Given the description of an element on the screen output the (x, y) to click on. 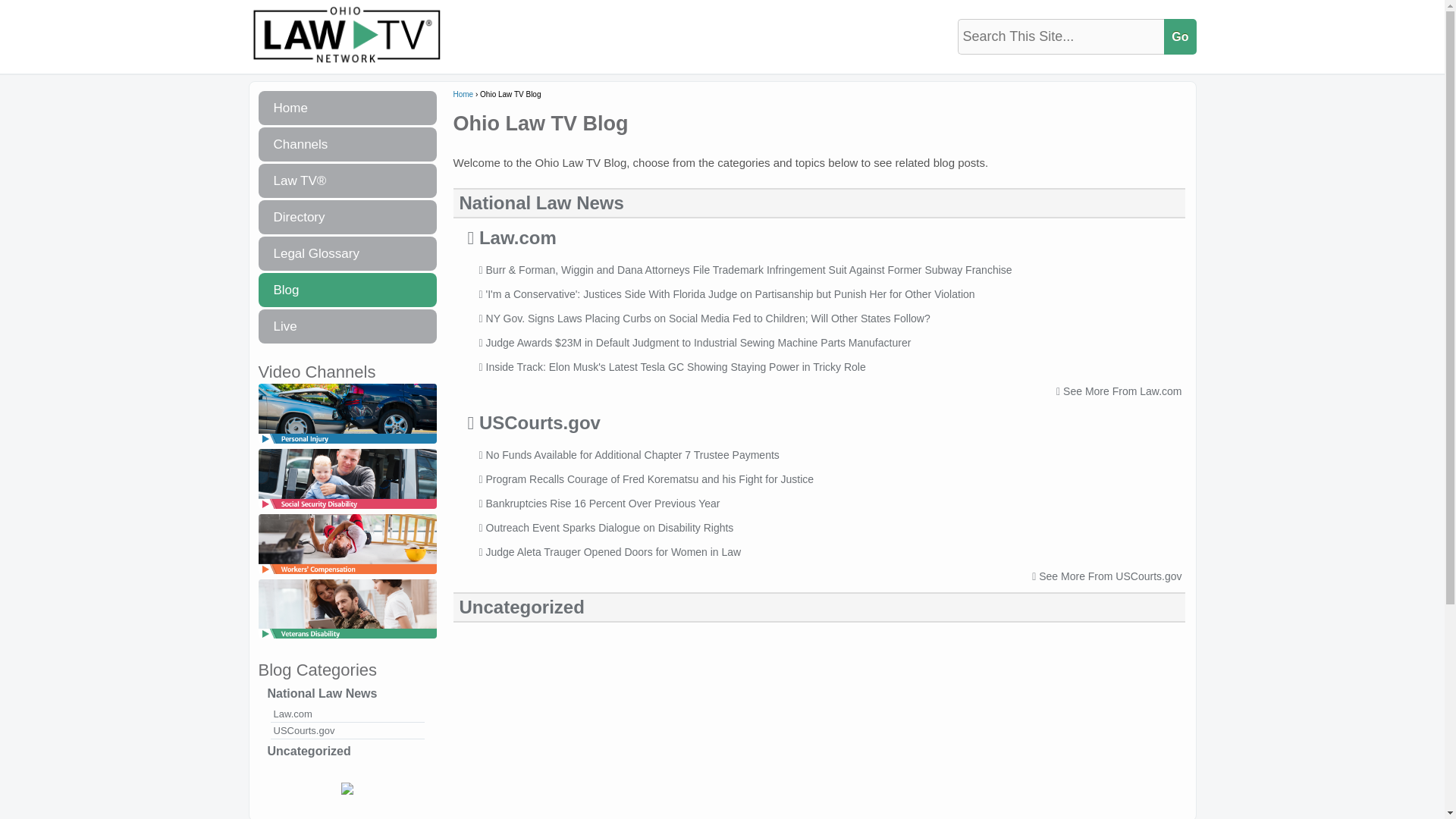
Veterans Disability (346, 639)
National Law News (346, 693)
Live (346, 326)
USCourts.gov (346, 730)
Personal Injury (346, 444)
Channels (346, 144)
Blog (346, 289)
Directory (346, 216)
Home (346, 107)
Uncategorized (346, 751)
Go (1179, 36)
Law.com (346, 713)
Social Security Disability (346, 510)
Go (1179, 36)
Legal Glossary (346, 253)
